Given the description of an element on the screen output the (x, y) to click on. 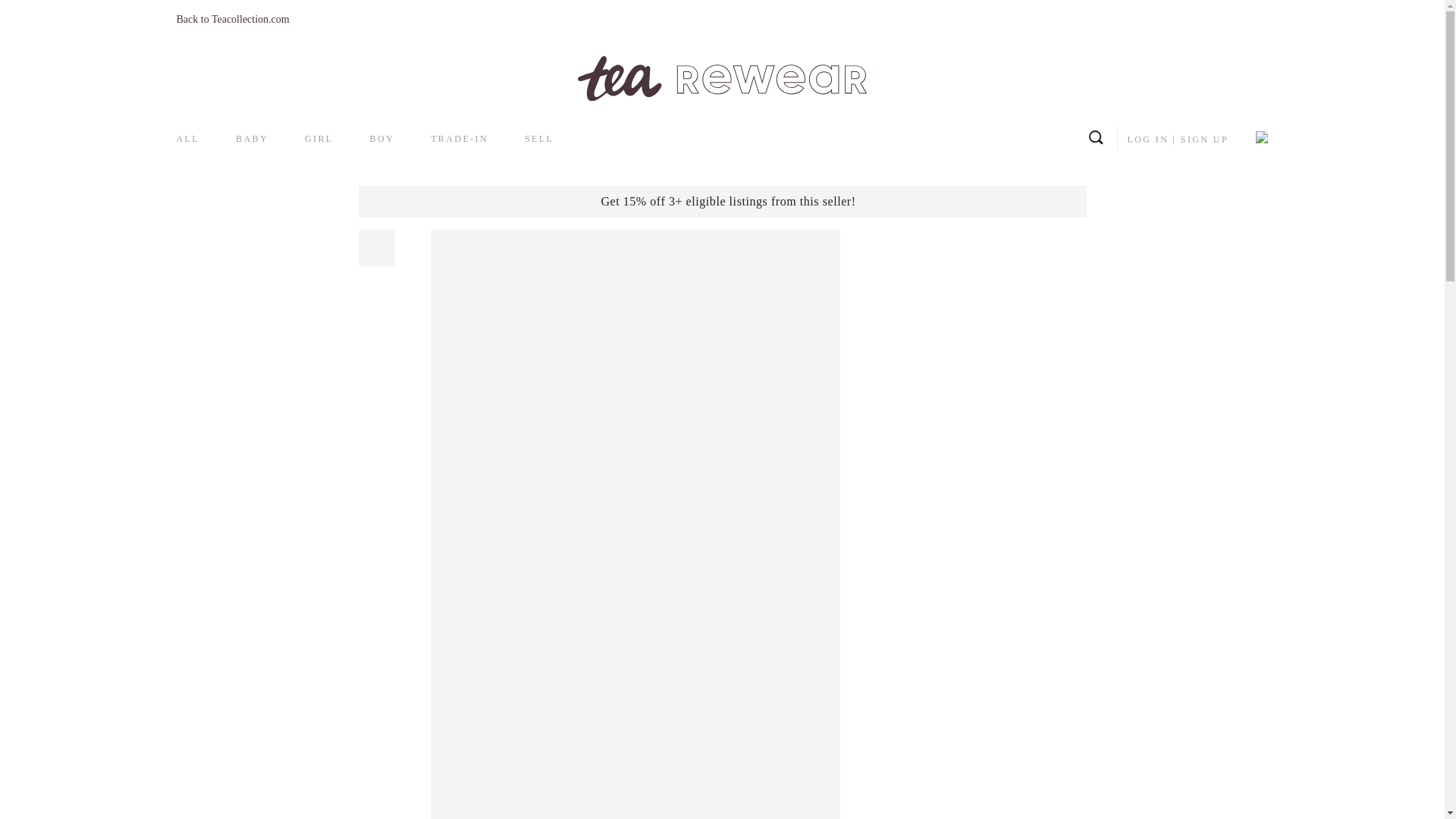
BOY (381, 138)
SIGN UP (1204, 139)
GIRL (318, 138)
ALL (187, 138)
TRADE-IN (458, 138)
BABY (251, 138)
Back to Teacollection.com (232, 19)
LOG IN (1147, 139)
SELL (538, 138)
